Given the description of an element on the screen output the (x, y) to click on. 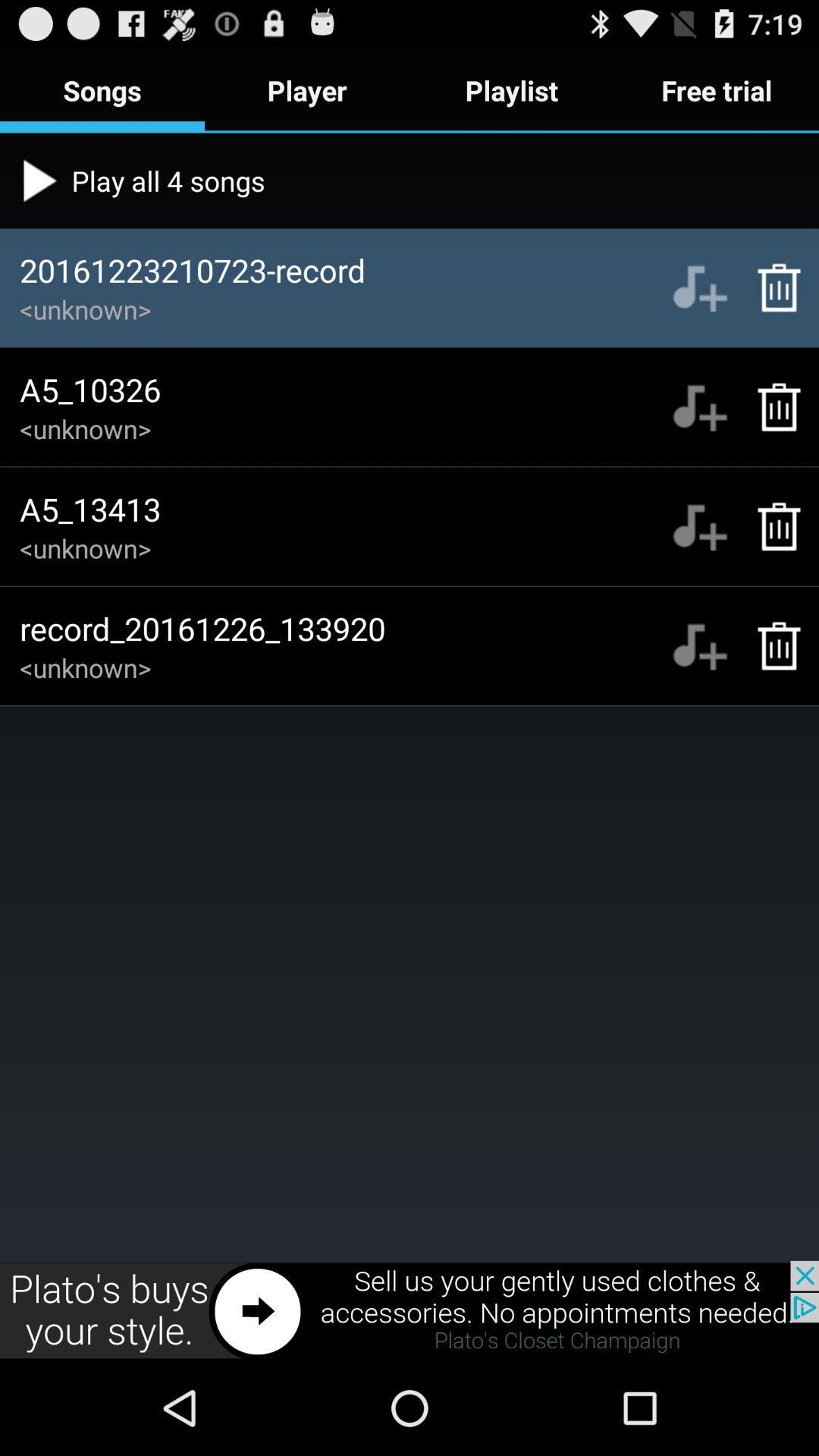
select the delete (771, 645)
